Given the description of an element on the screen output the (x, y) to click on. 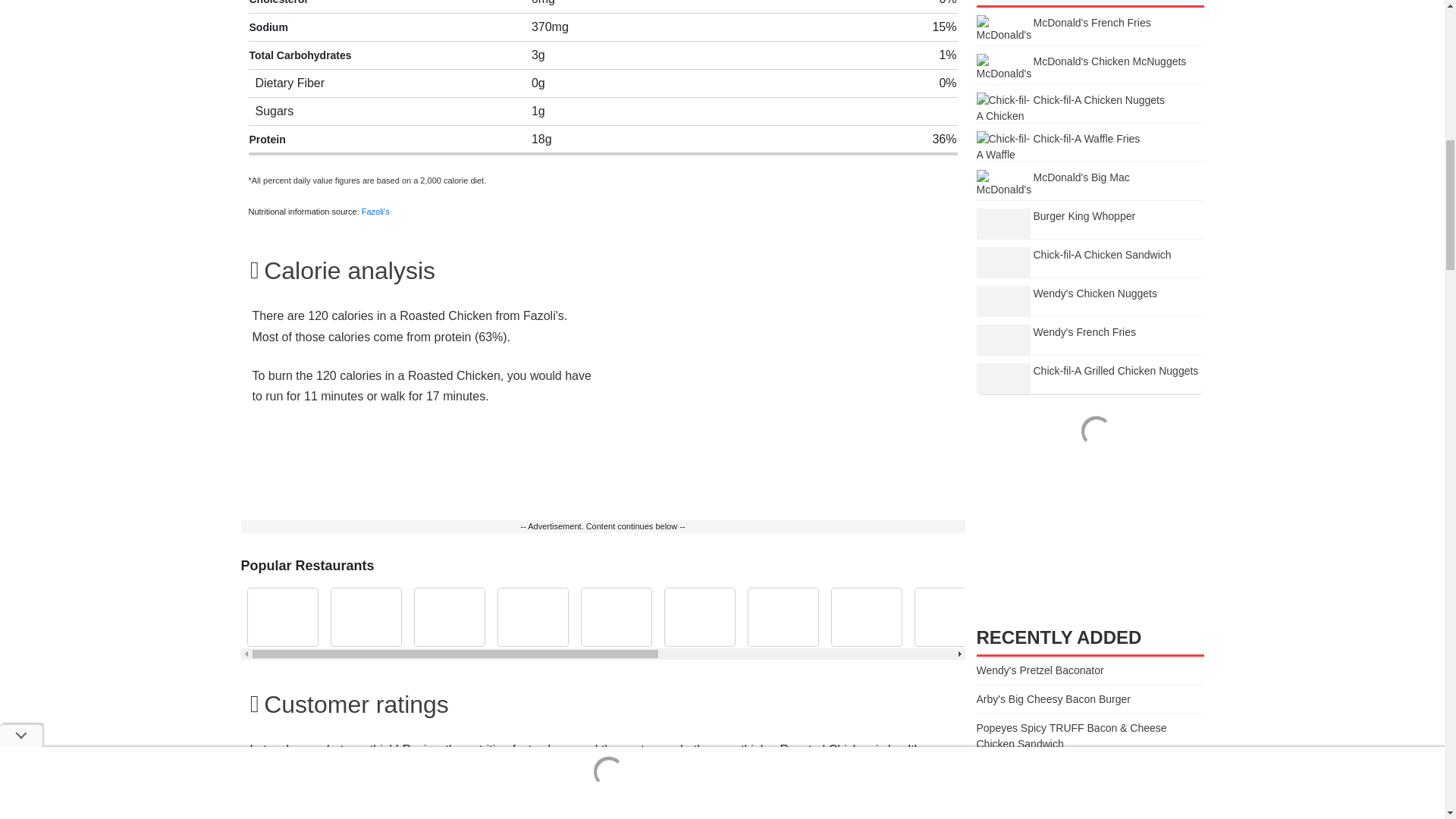
Sodium (267, 26)
Cholesterol (277, 2)
Dietary Fiber (289, 82)
Total Carbohydrates (299, 54)
Sugars (274, 110)
